Given the description of an element on the screen output the (x, y) to click on. 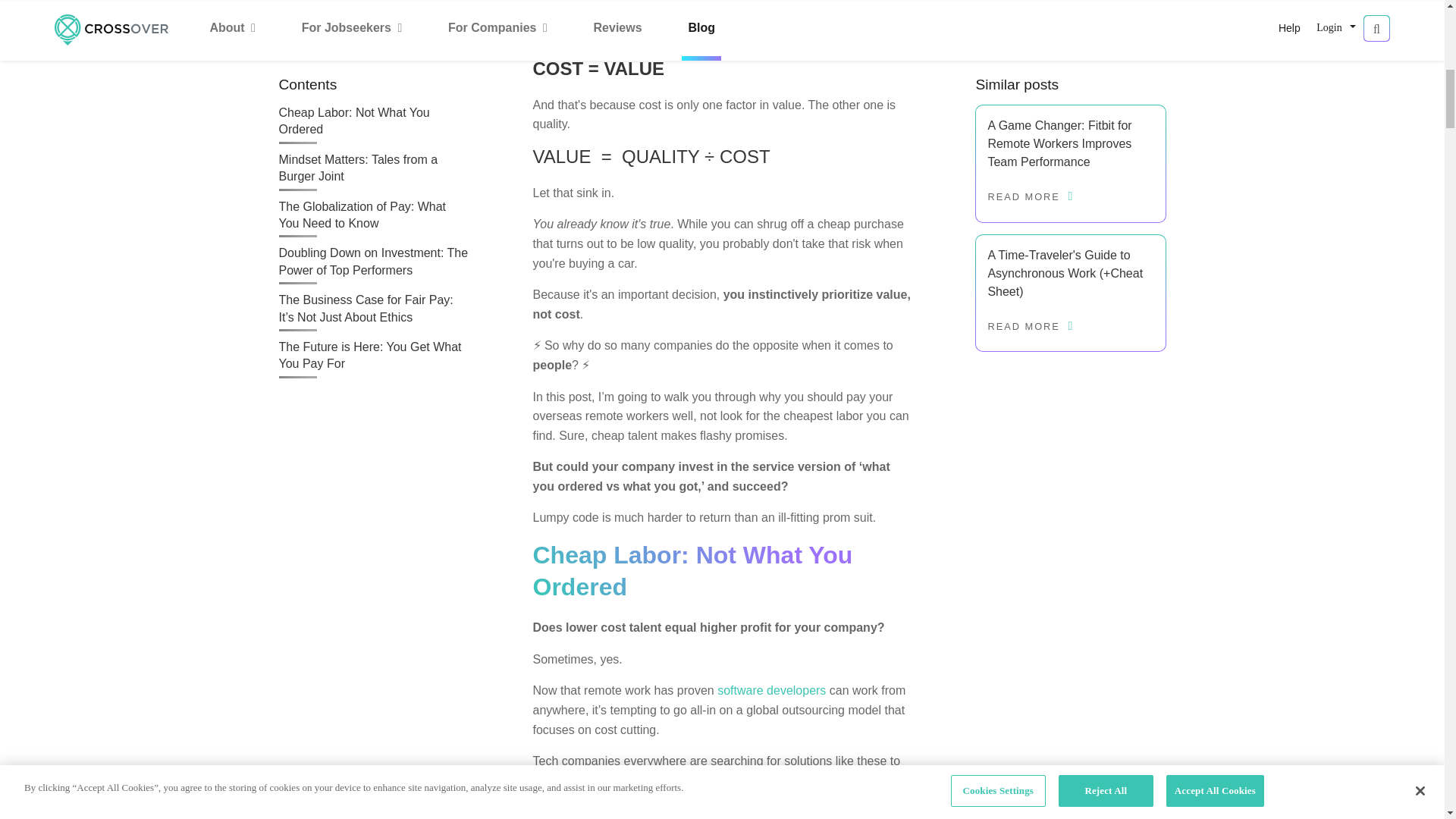
the overspending (621, 780)
software developers (771, 689)
